Given the description of an element on the screen output the (x, y) to click on. 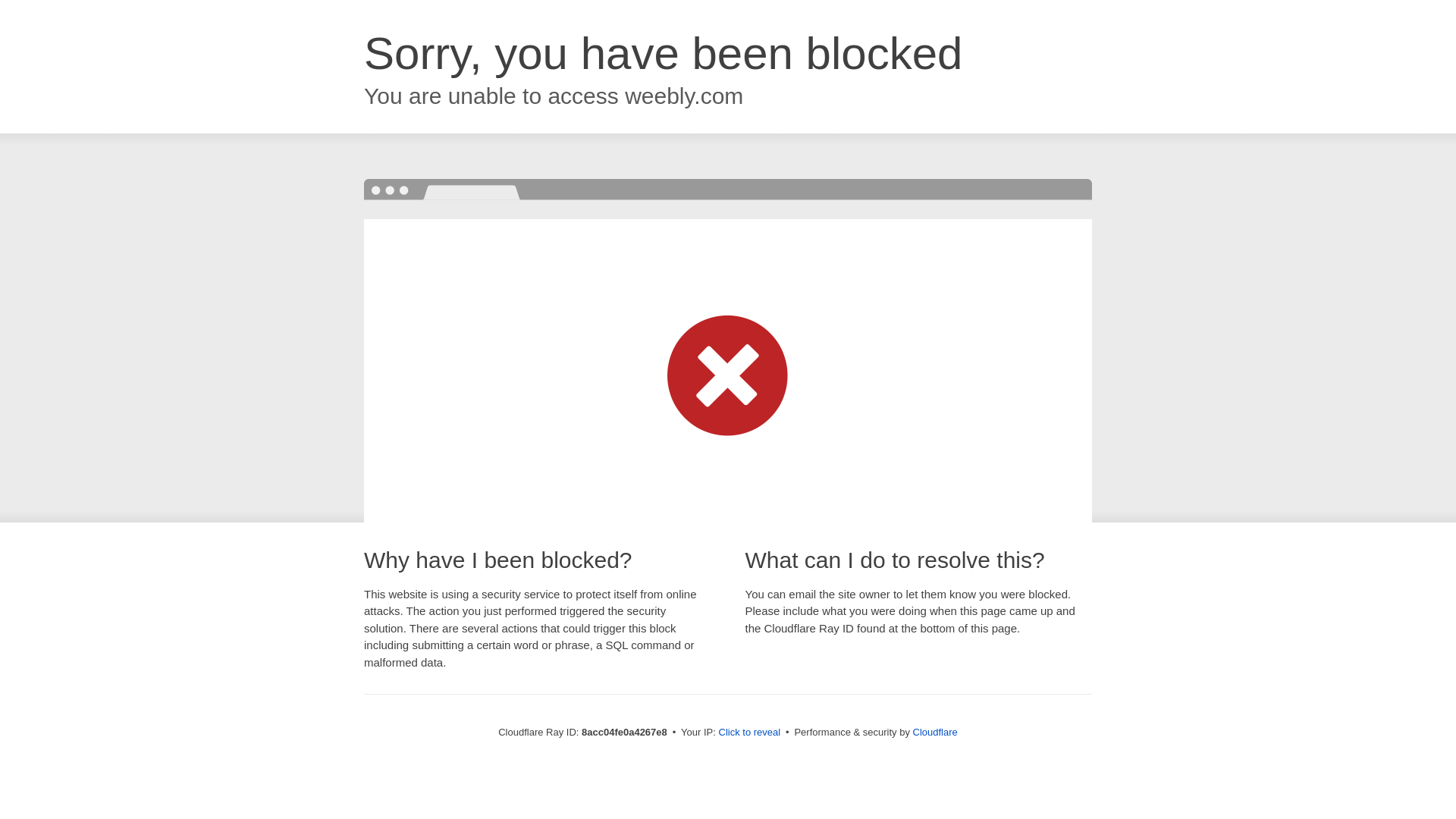
Click to reveal (749, 732)
Cloudflare (935, 731)
